Given the description of an element on the screen output the (x, y) to click on. 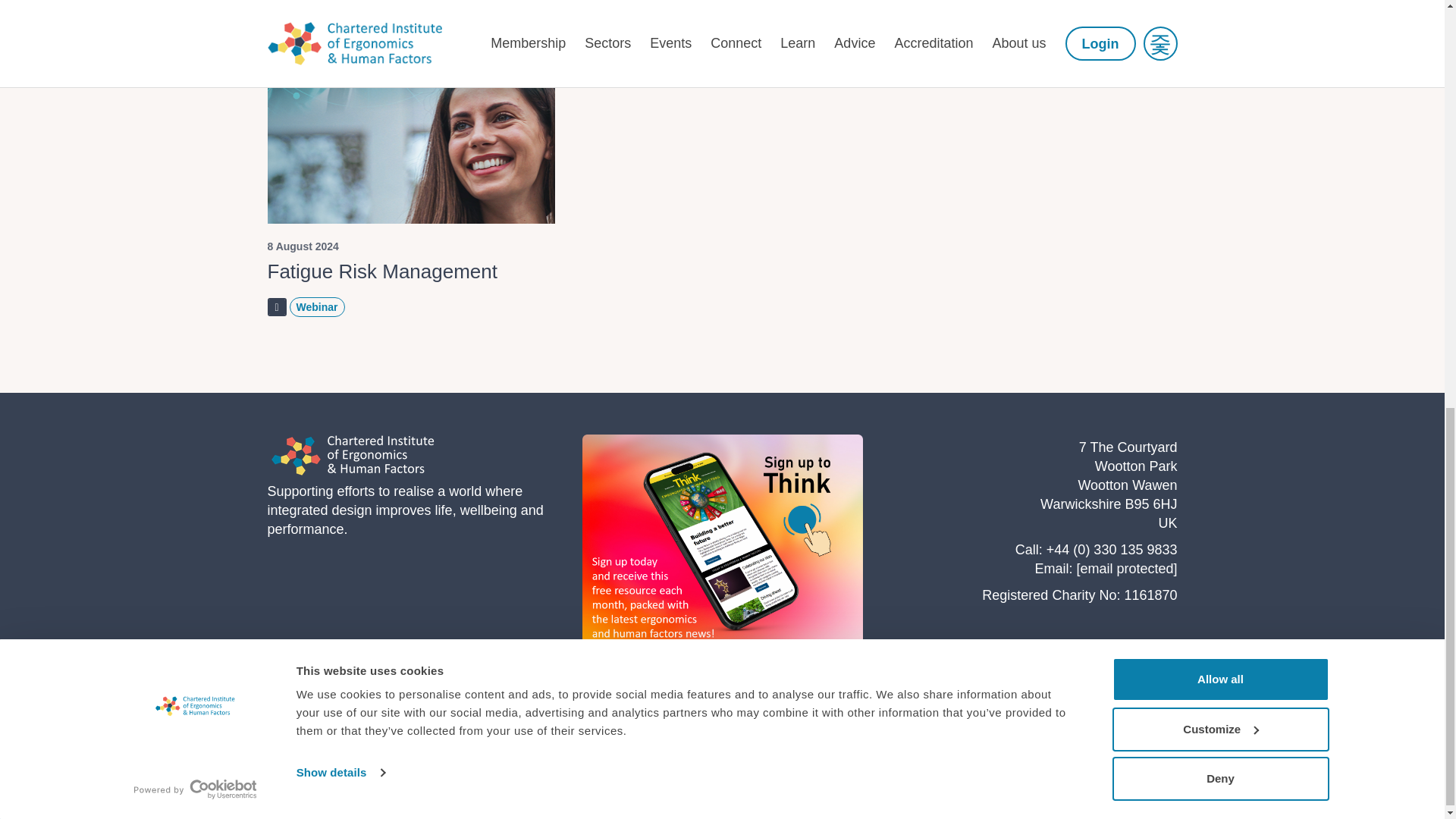
Twitter (1131, 772)
Linkedin (1166, 772)
